Given the description of an element on the screen output the (x, y) to click on. 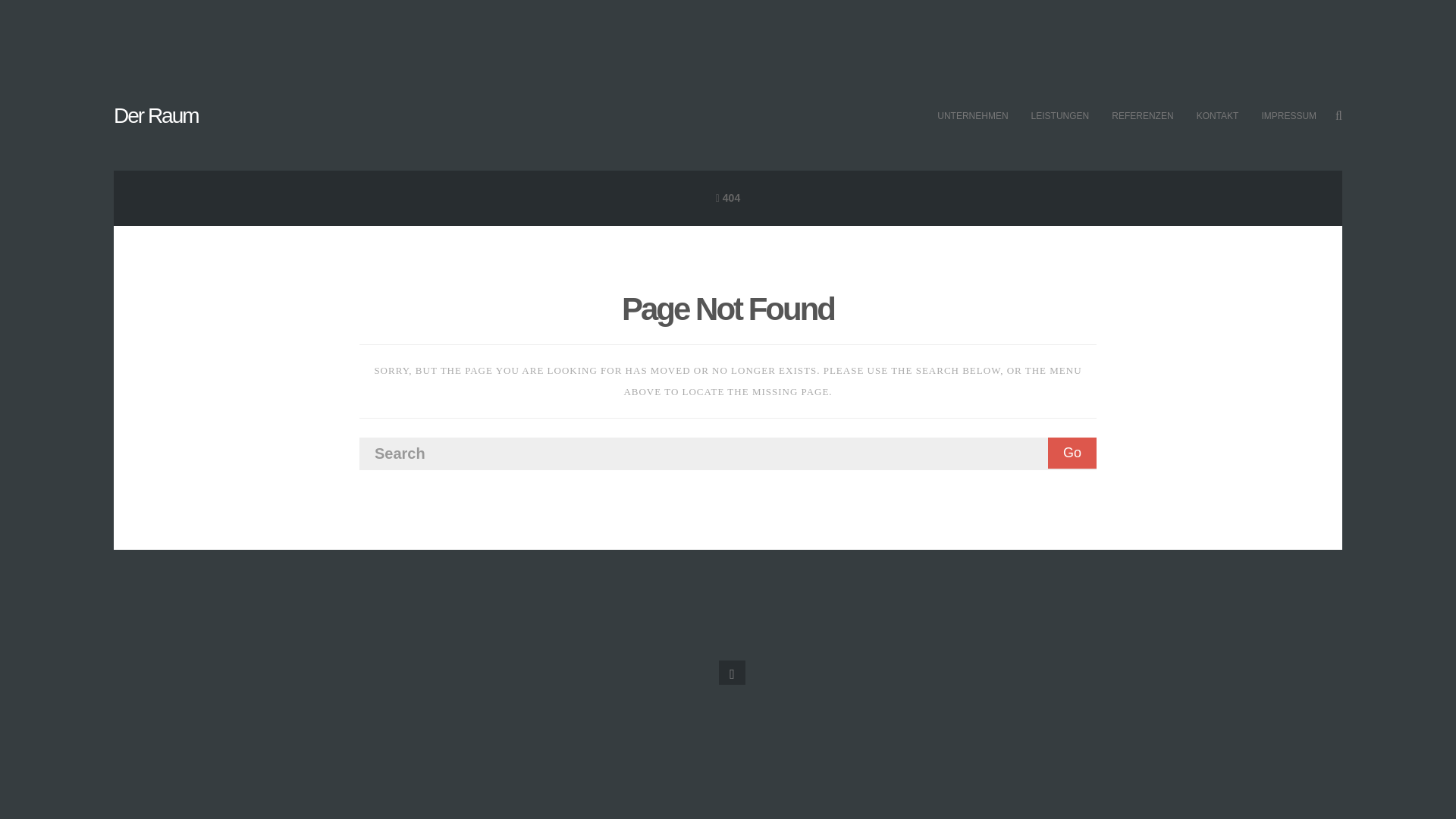
Der Raum (155, 115)
LEISTUNGEN (1060, 116)
KONTAKT (1217, 116)
UNTERNEHMEN (972, 116)
Search (727, 453)
Search (727, 453)
Page Not Found (727, 308)
IMPRESSUM (1288, 116)
Go (1072, 452)
Der Raum (155, 115)
Go (1072, 452)
Go (1072, 452)
REFERENZEN (1141, 116)
